Given the description of an element on the screen output the (x, y) to click on. 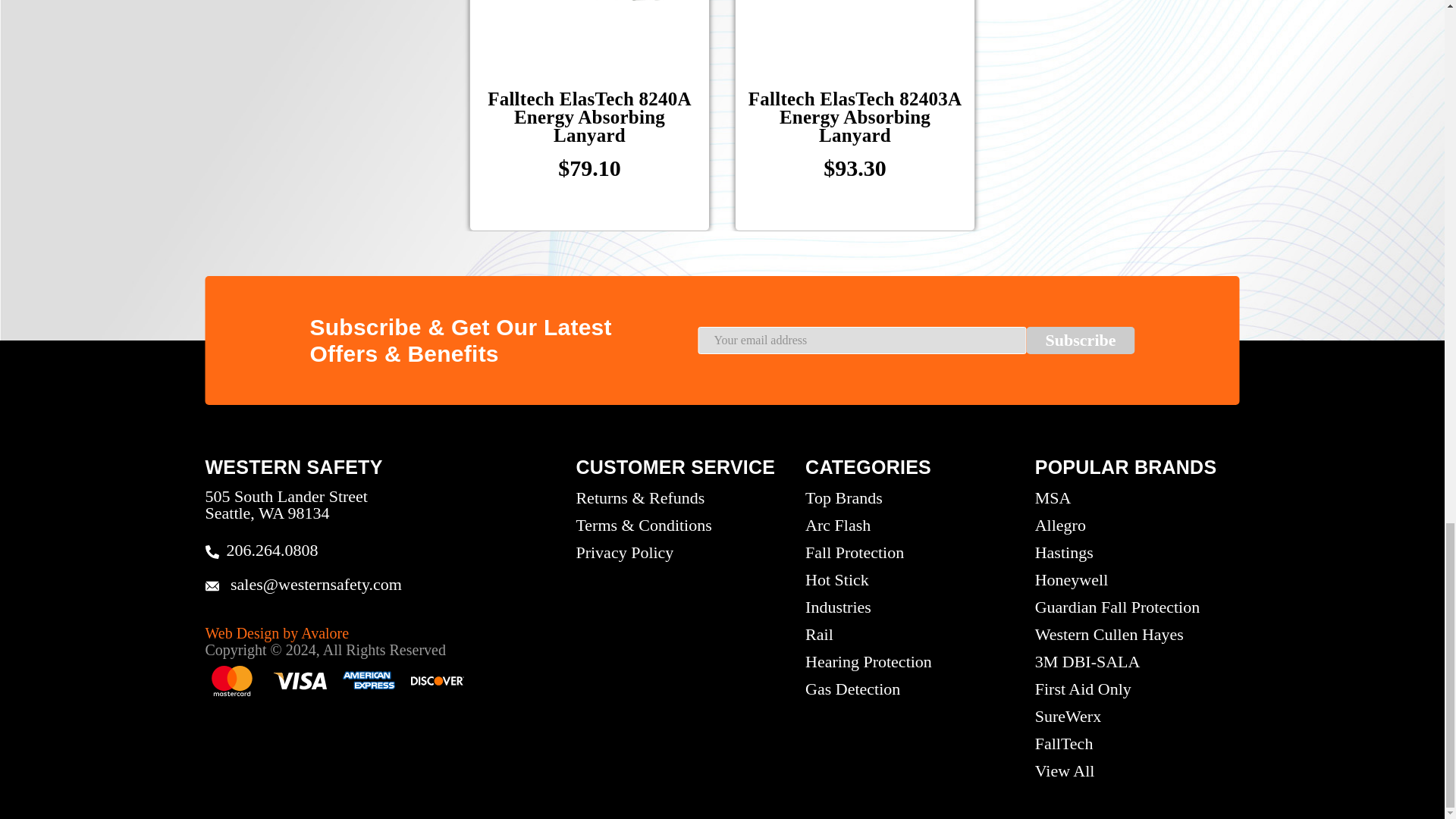
Subscribe (1080, 339)
Falltech ElasTech 8240A Energy Absorbing Lanyard (590, 20)
Falltech ElasTech 82403A Energy Absorbing Lanyard (855, 20)
